Given the description of an element on the screen output the (x, y) to click on. 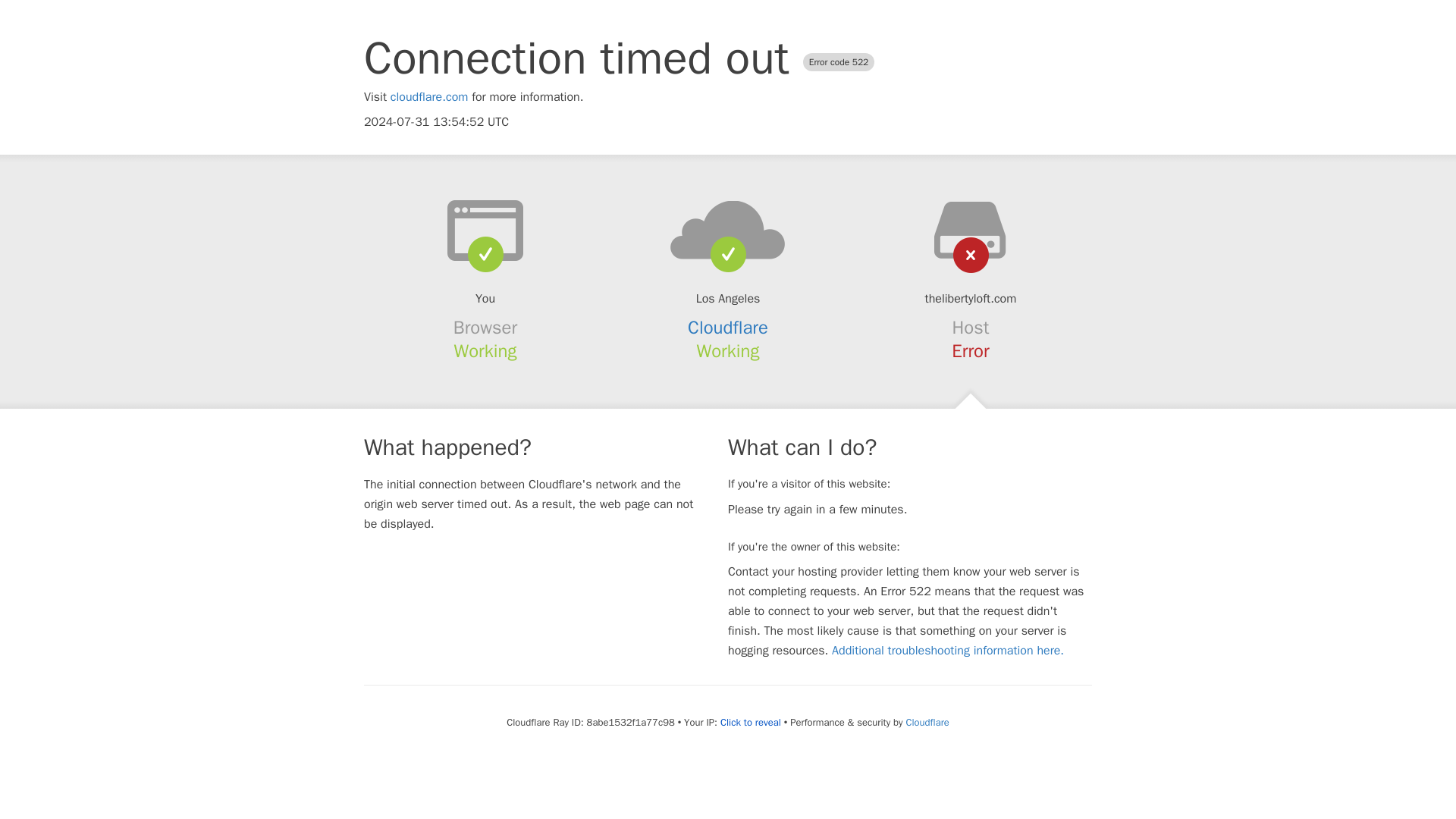
Cloudflare (727, 327)
Cloudflare (927, 721)
Click to reveal (750, 722)
Additional troubleshooting information here. (947, 650)
cloudflare.com (429, 96)
